Given the description of an element on the screen output the (x, y) to click on. 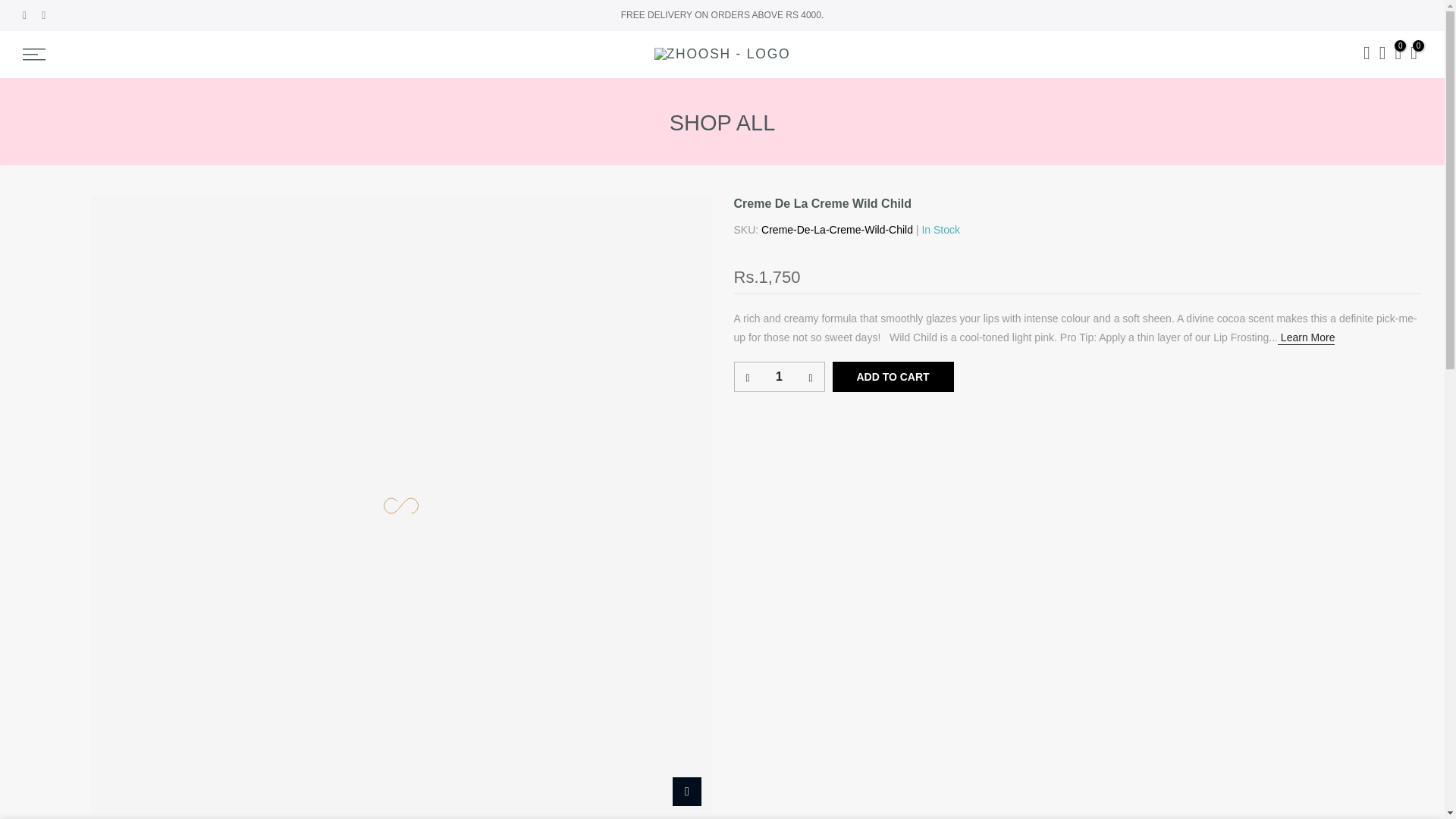
ADD TO CART (892, 376)
Learn More (1306, 337)
1 (778, 376)
